Given the description of an element on the screen output the (x, y) to click on. 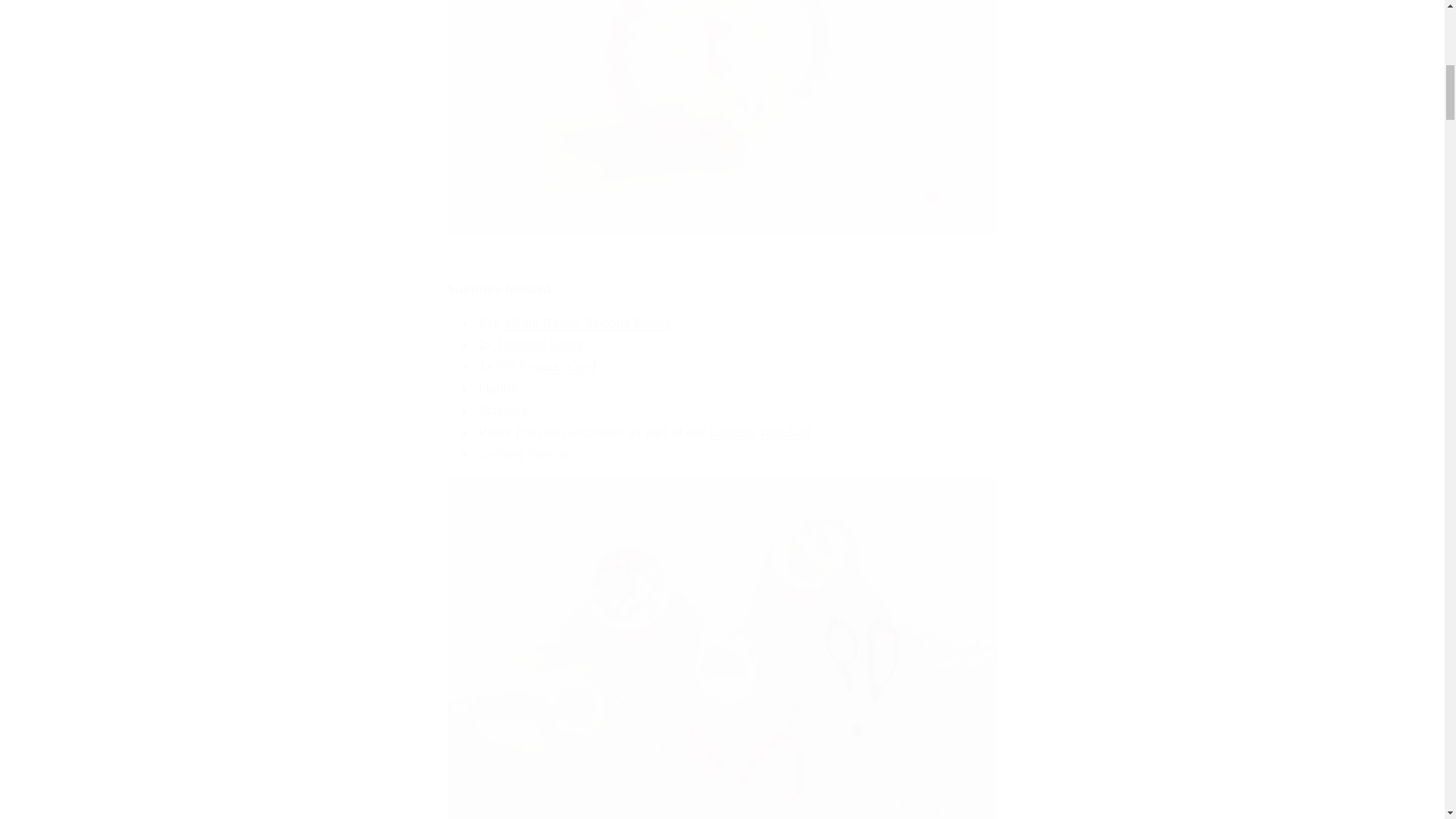
12mm Silicone Rounds (587, 323)
60" Regular Cord (546, 366)
Crafting Needle (524, 453)
Crafting Tool Set (758, 431)
Teething Rings (539, 344)
